Given the description of an element on the screen output the (x, y) to click on. 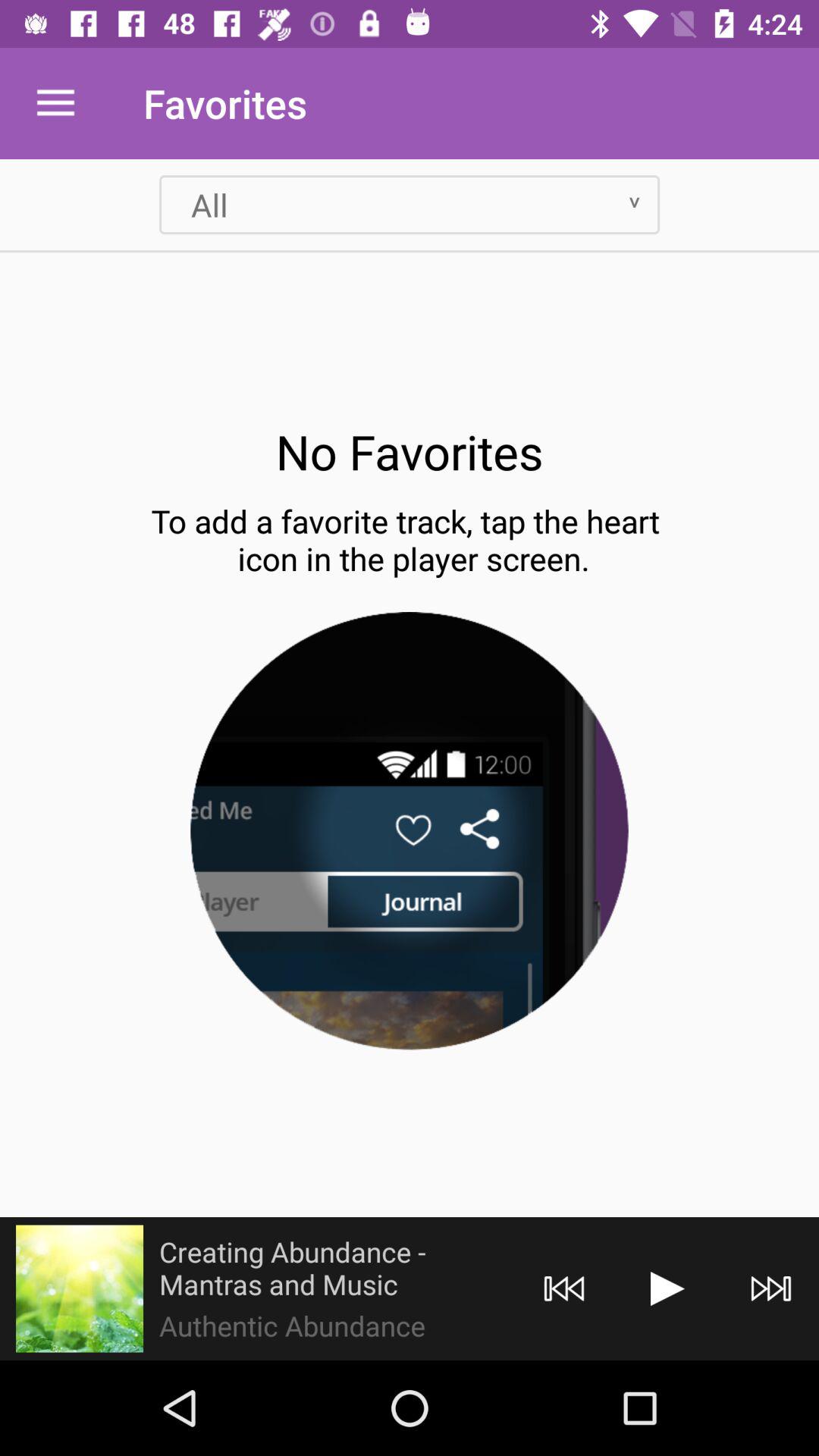
play music track (667, 1288)
